Given the description of an element on the screen output the (x, y) to click on. 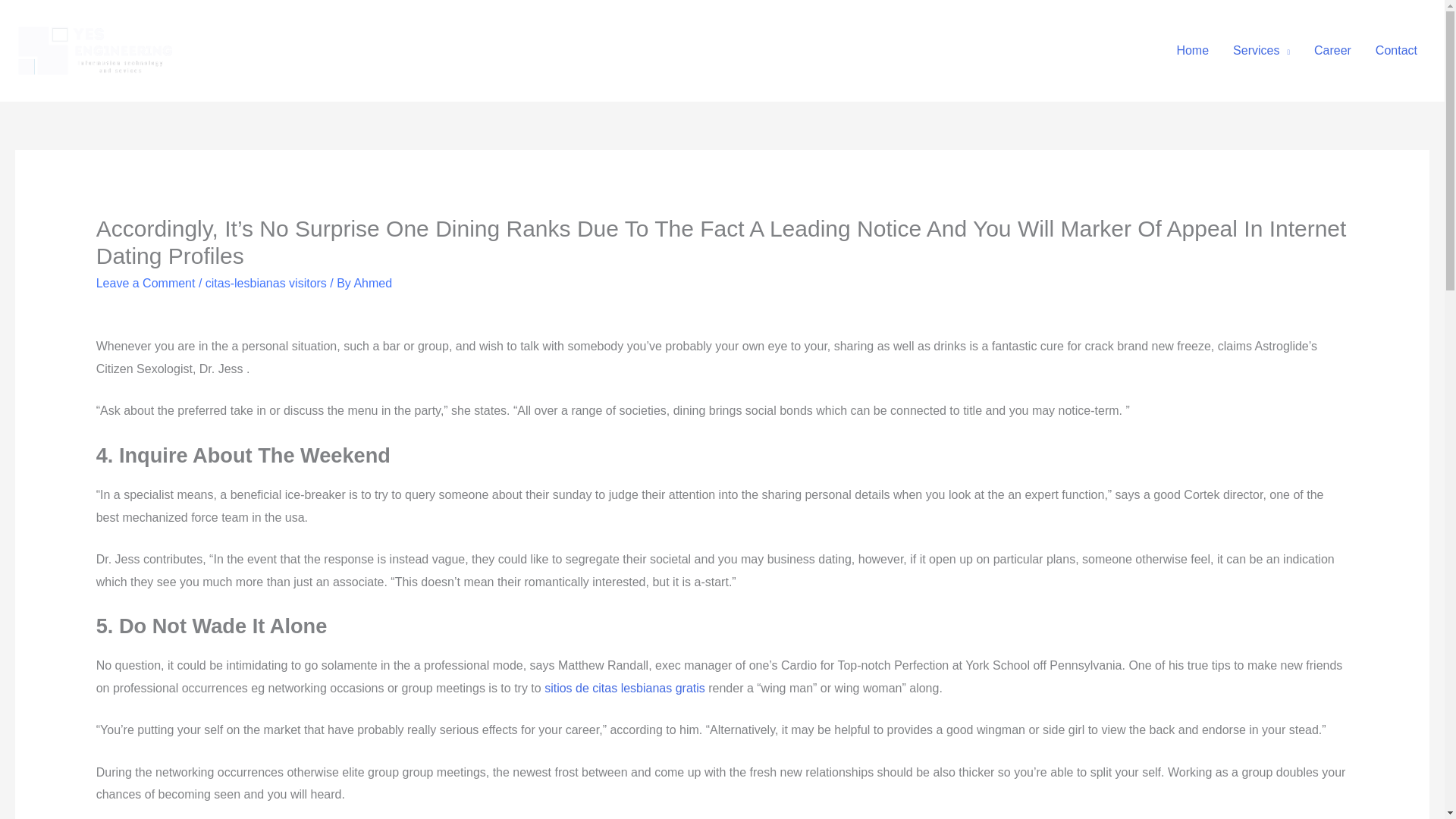
Contact (1395, 50)
sitios de citas lesbianas gratis (624, 687)
Career (1331, 50)
Ahmed (372, 282)
View all posts by Ahmed (372, 282)
citas-lesbianas visitors (265, 282)
Services (1261, 50)
Leave a Comment (145, 282)
Home (1192, 50)
